Given the description of an element on the screen output the (x, y) to click on. 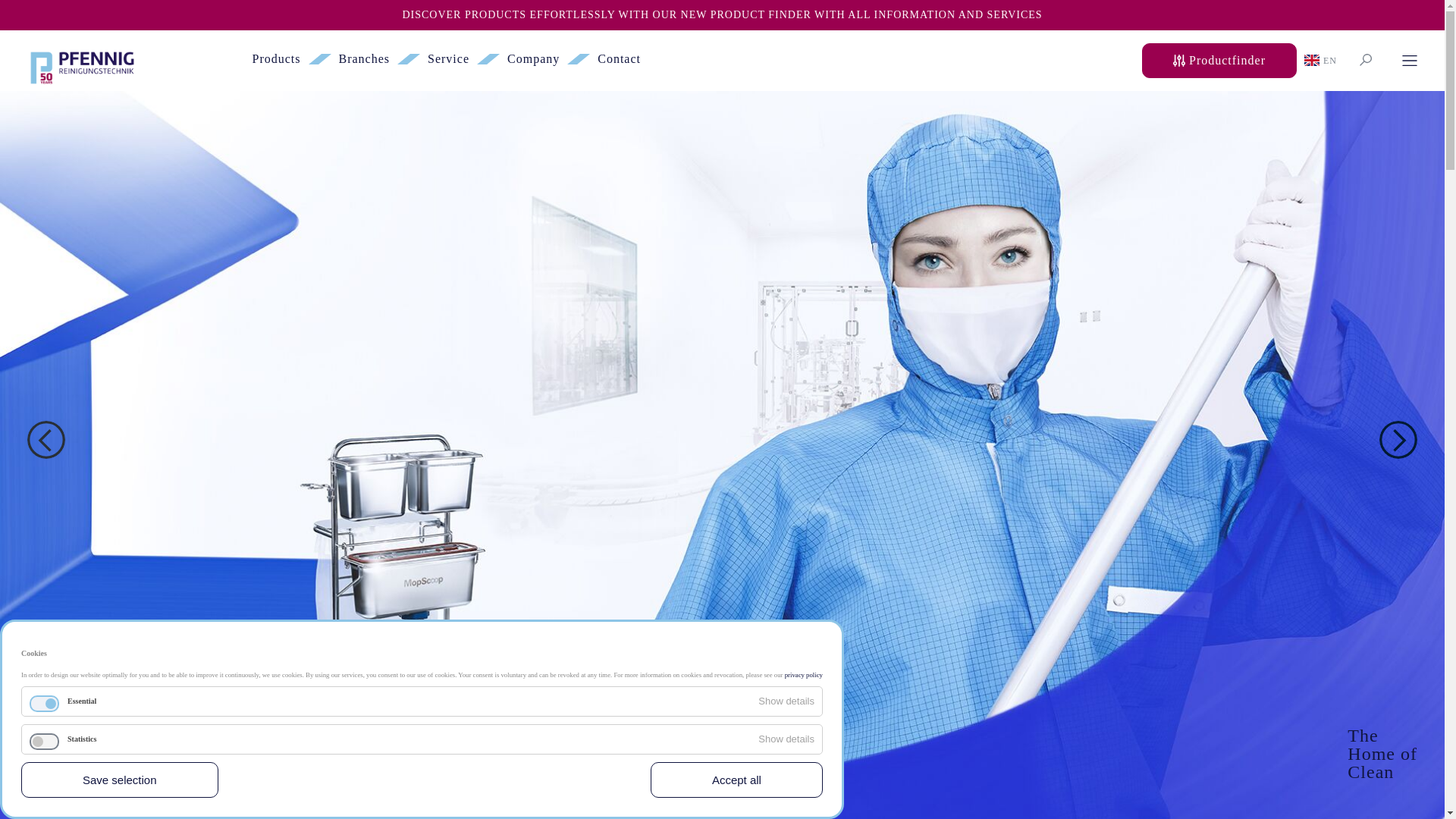
Productfinder (1219, 60)
Startslide (671, 792)
Productfinder (1219, 60)
Company (532, 58)
Products (275, 58)
Company - PFENNIG Reinigungstechnik (532, 58)
Productfinder (1215, 60)
Contact - PFENNIG Reinigungstechnik (618, 58)
Service - PFENNIG Reinigungstechnik (448, 58)
Branches - PFENNIG Reinigungstechnik (363, 58)
